Given the description of an element on the screen output the (x, y) to click on. 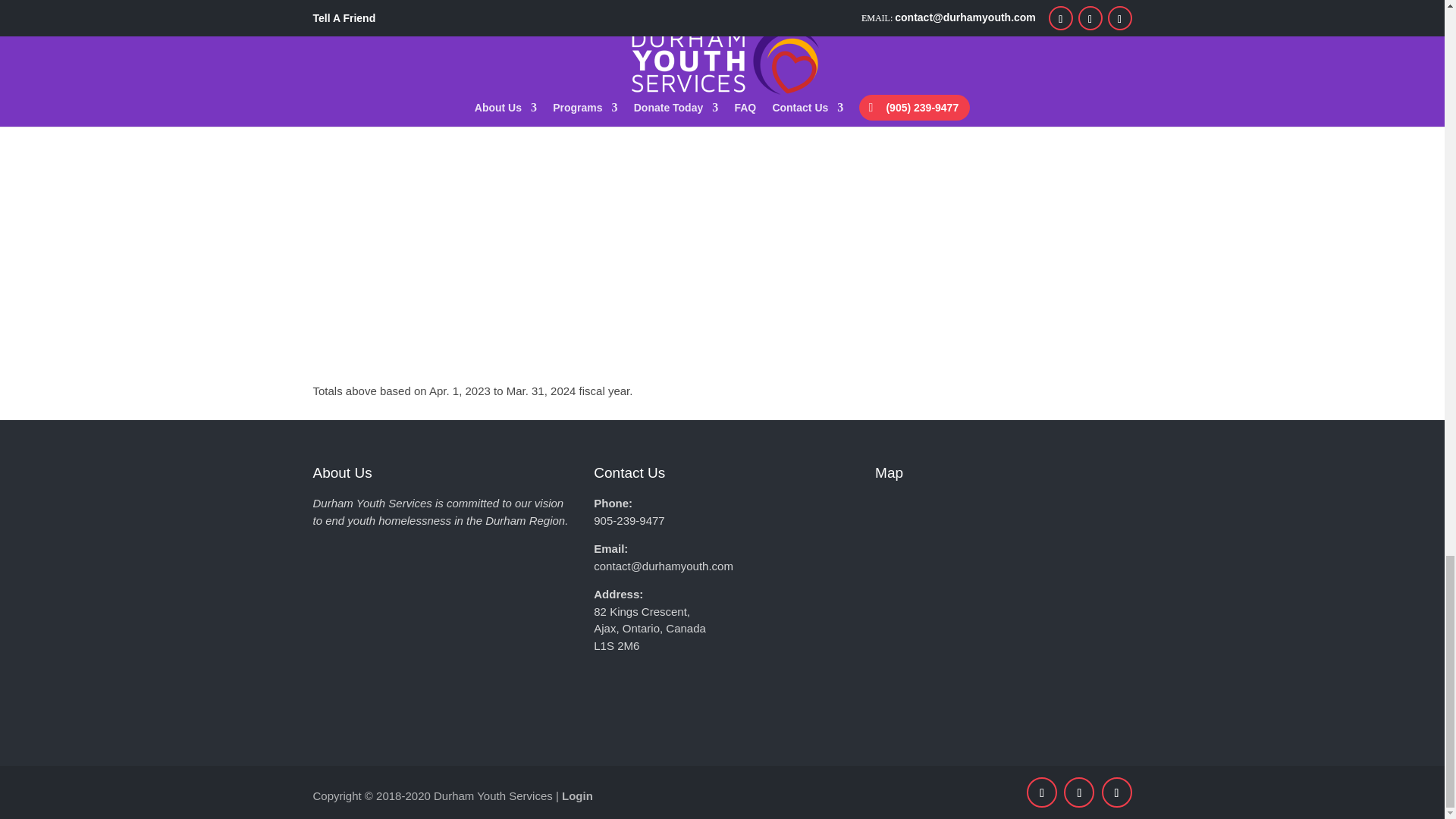
people icon (406, 160)
Login (577, 795)
home (1038, 160)
plate (828, 160)
bed (617, 160)
